Given the description of an element on the screen output the (x, y) to click on. 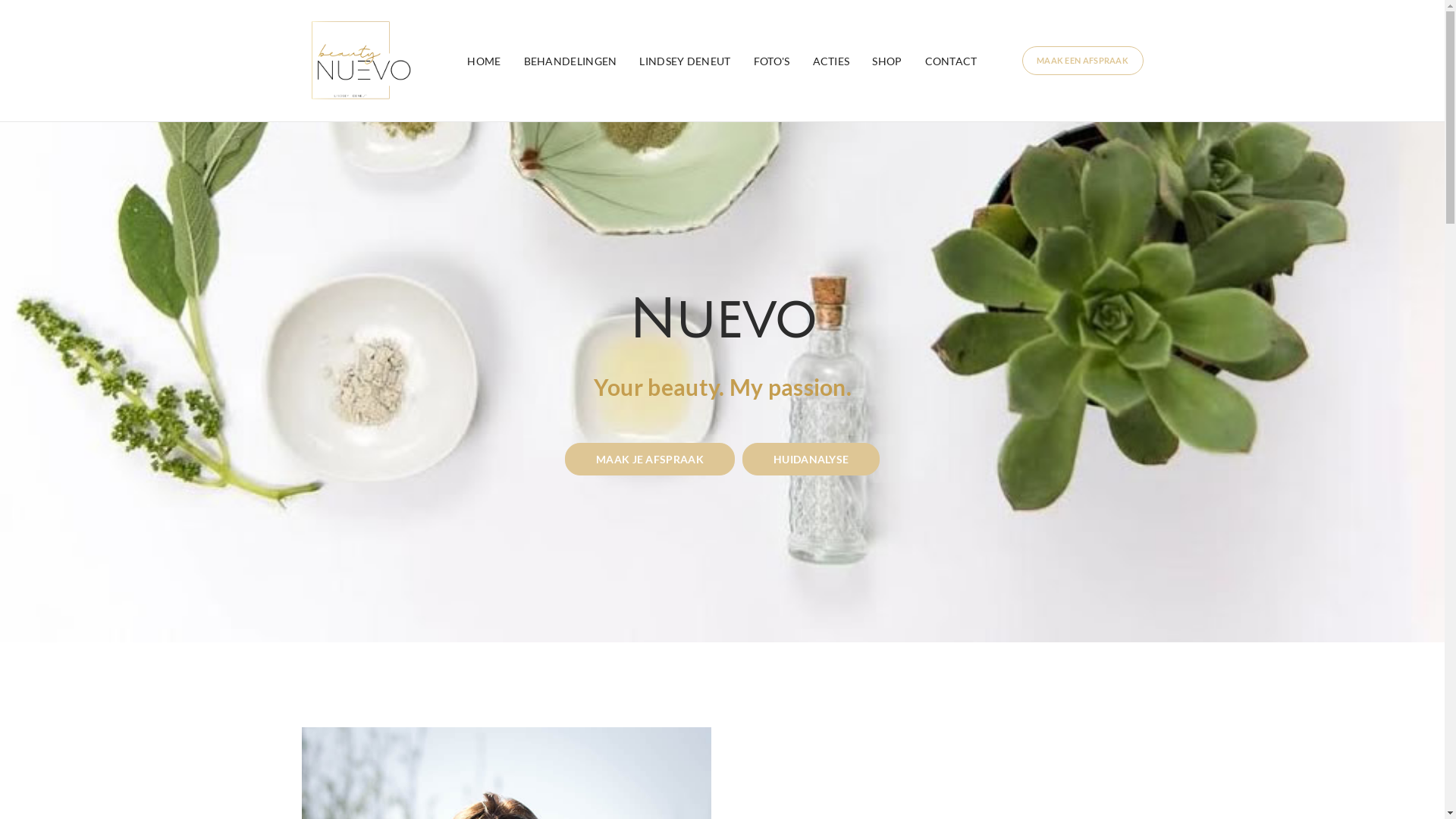
ACTIES Element type: text (831, 60)
MAAK EEN AFSPRAAK Element type: text (1082, 60)
BEHANDELINGEN Element type: text (570, 60)
SHOP Element type: text (886, 60)
HOME Element type: text (483, 60)
HUIDANALYSE Element type: text (810, 458)
FOTO'S Element type: text (771, 60)
CONTACT Element type: text (951, 60)
LINDSEY DENEUT Element type: text (684, 60)
MAAK JE AFSPRAAK Element type: text (649, 458)
